Given the description of an element on the screen output the (x, y) to click on. 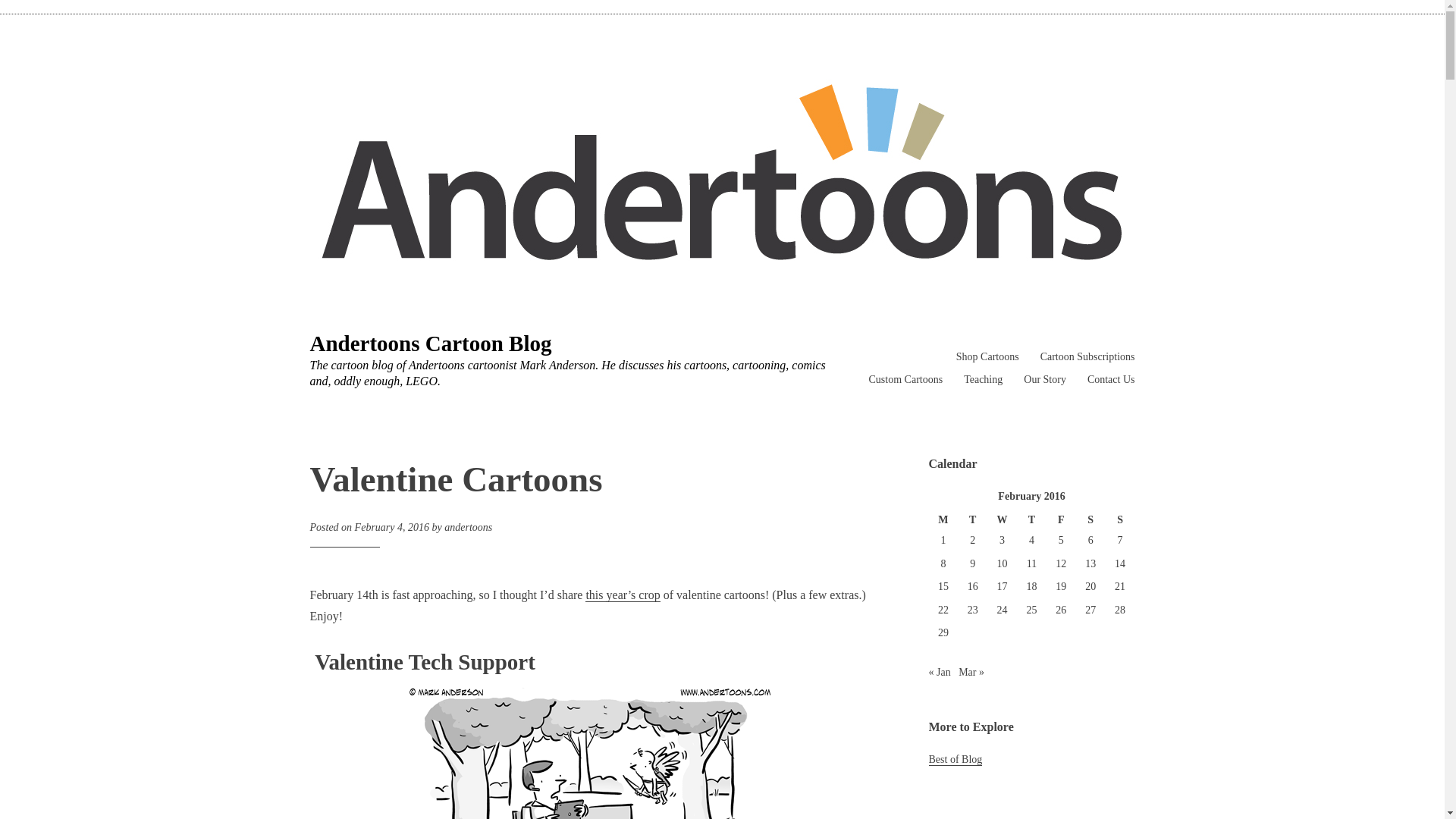
Sunday (1120, 520)
Monday (943, 520)
Andertoons Cartoon Blog (429, 343)
Tuesday (972, 520)
Contact Us (1111, 378)
Our Story (1044, 378)
Teaching (983, 378)
Friday (1060, 520)
Wednesday (1001, 520)
